Given the description of an element on the screen output the (x, y) to click on. 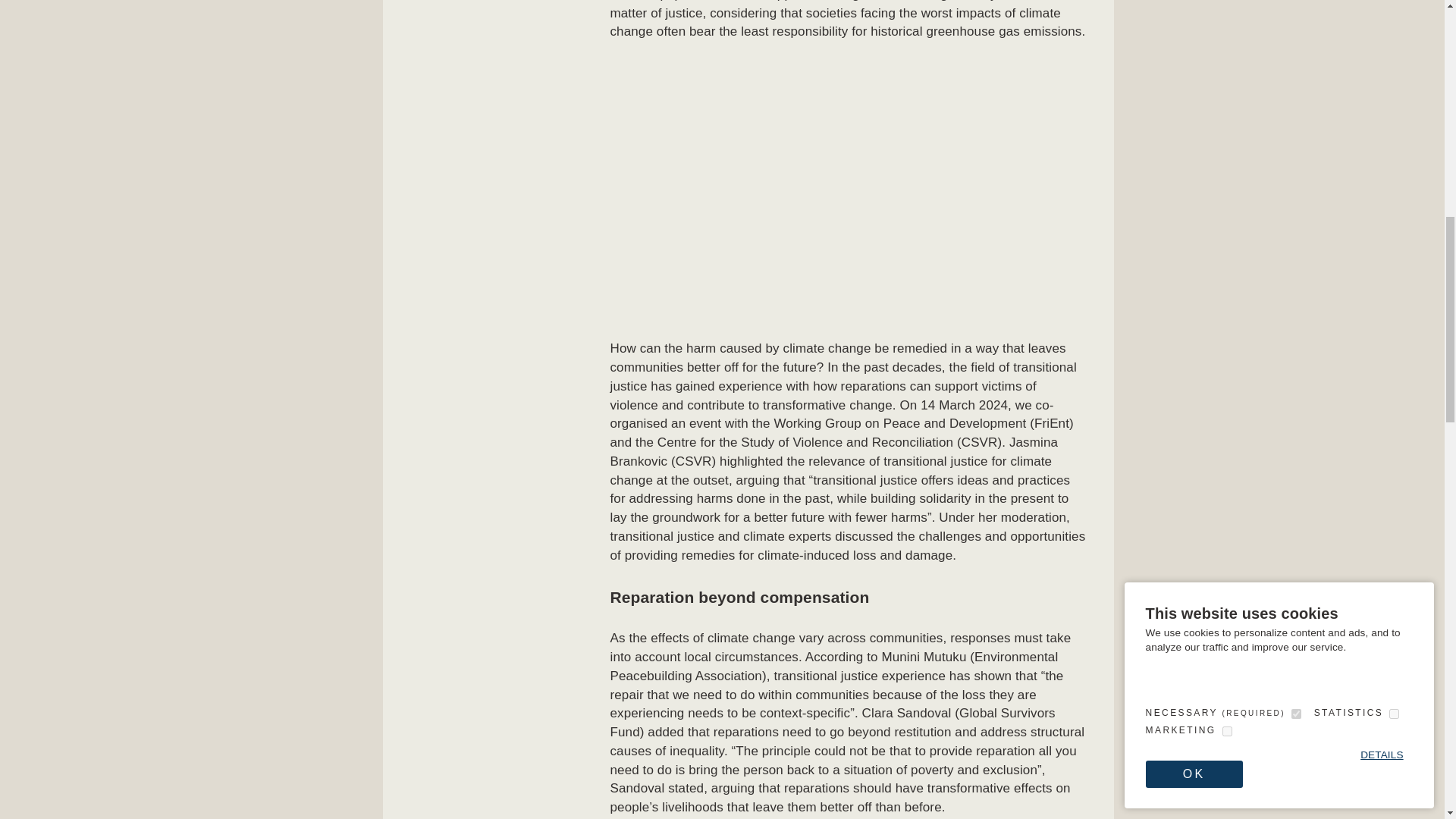
YouTube video player (848, 194)
